Given the description of an element on the screen output the (x, y) to click on. 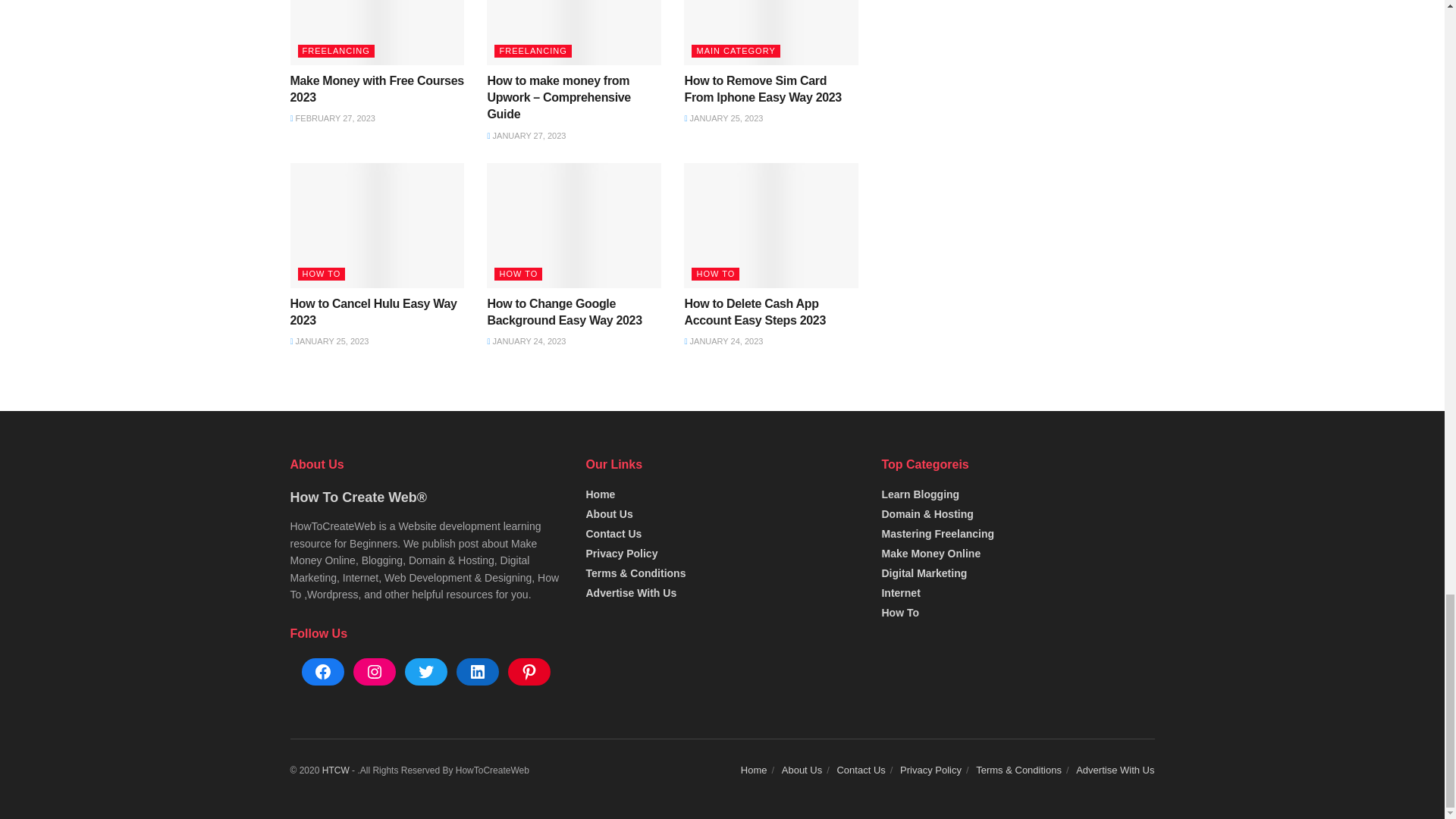
How To Create Web (335, 769)
